Given the description of an element on the screen output the (x, y) to click on. 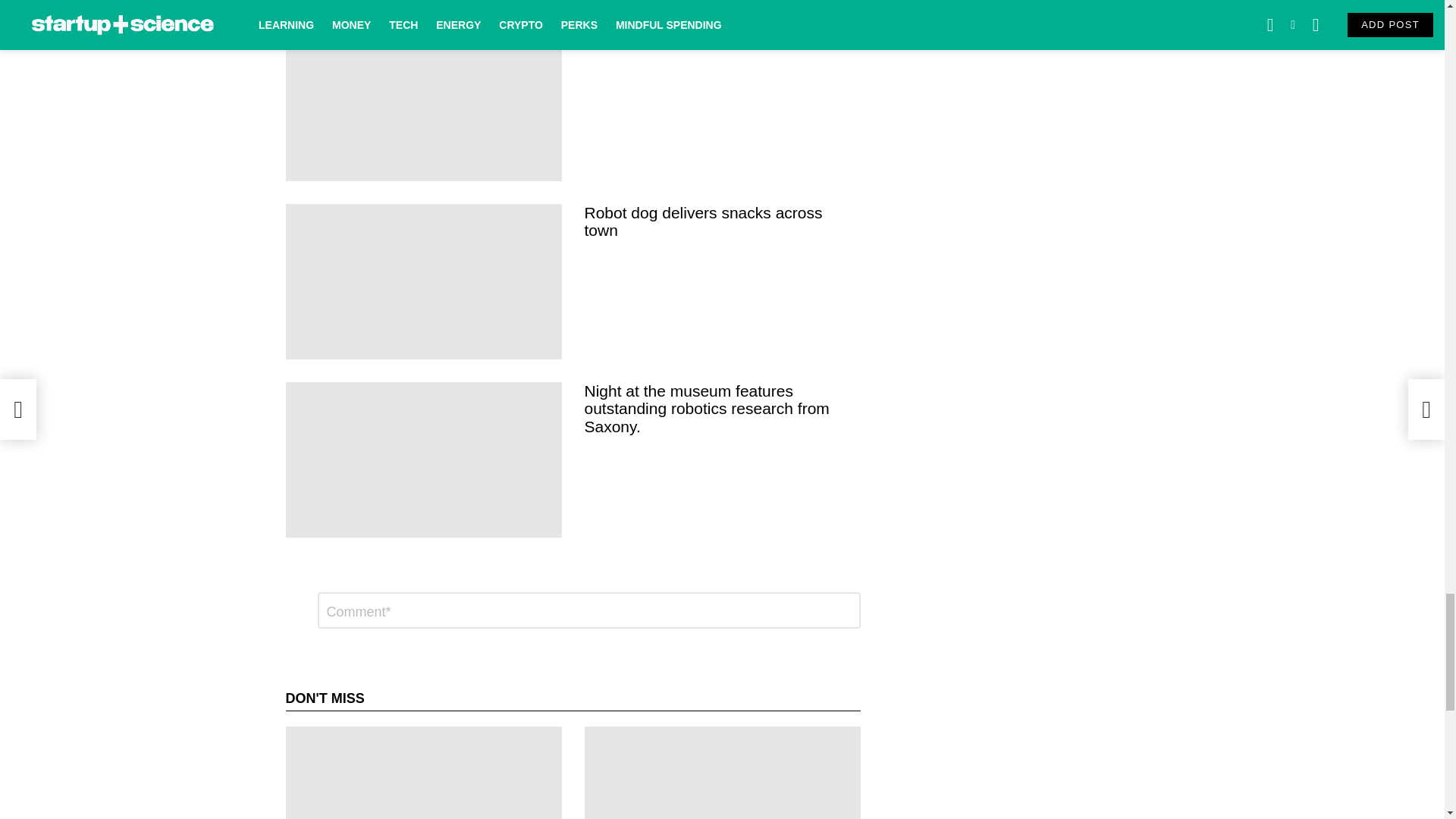
Robot dog delivers snacks across town (422, 281)
Practical uses for robot dogs (422, 102)
Perceval the robot dog aids in Paris metro repairs (422, 1)
